Given the description of an element on the screen output the (x, y) to click on. 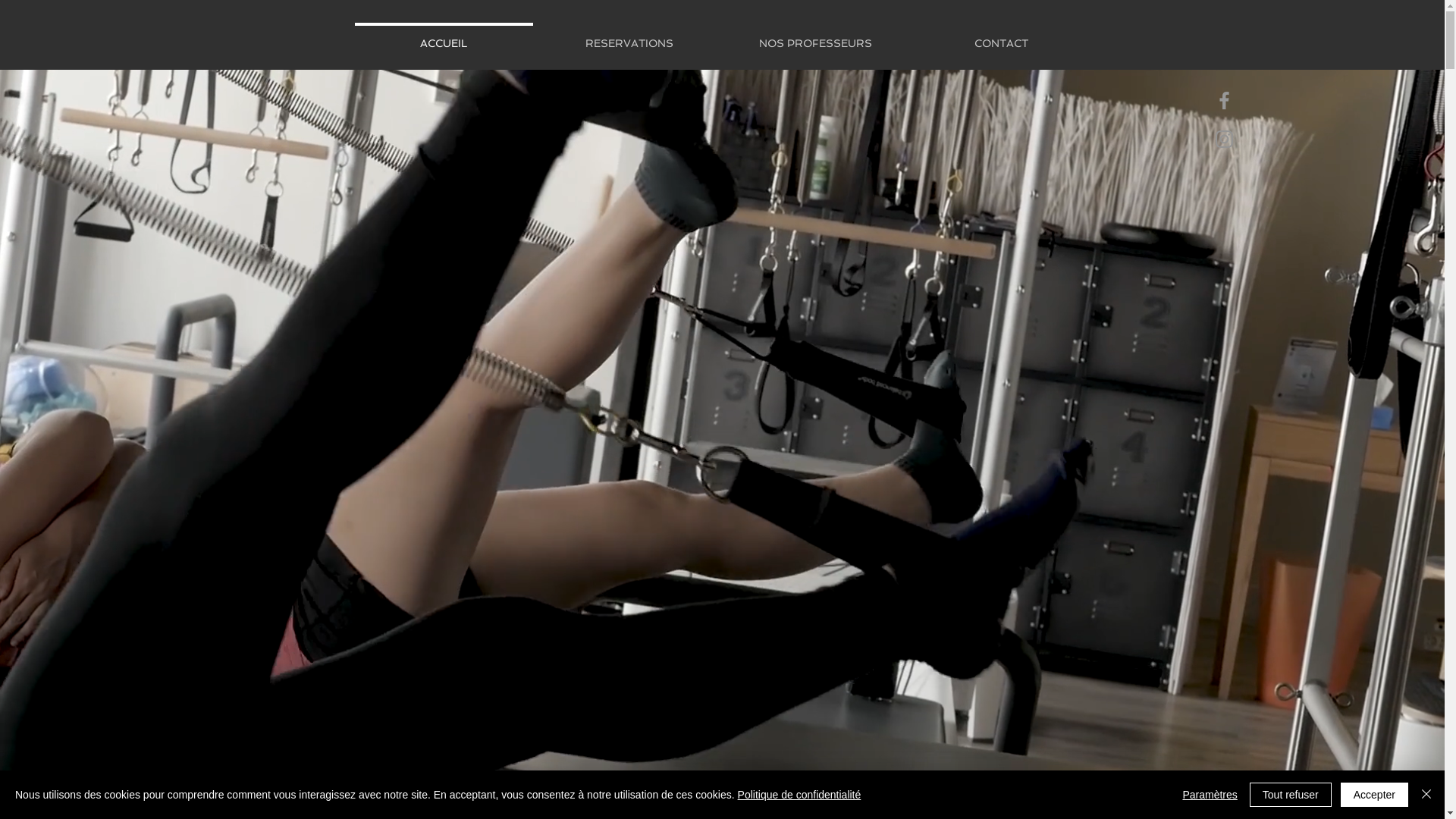
NOS PROFESSEURS Element type: text (814, 36)
Accepter Element type: text (1374, 794)
Tout refuser Element type: text (1290, 794)
CONTACT Element type: text (1001, 36)
RESERVATIONS Element type: text (629, 36)
ACCUEIL Element type: text (443, 36)
